Given the description of an element on the screen output the (x, y) to click on. 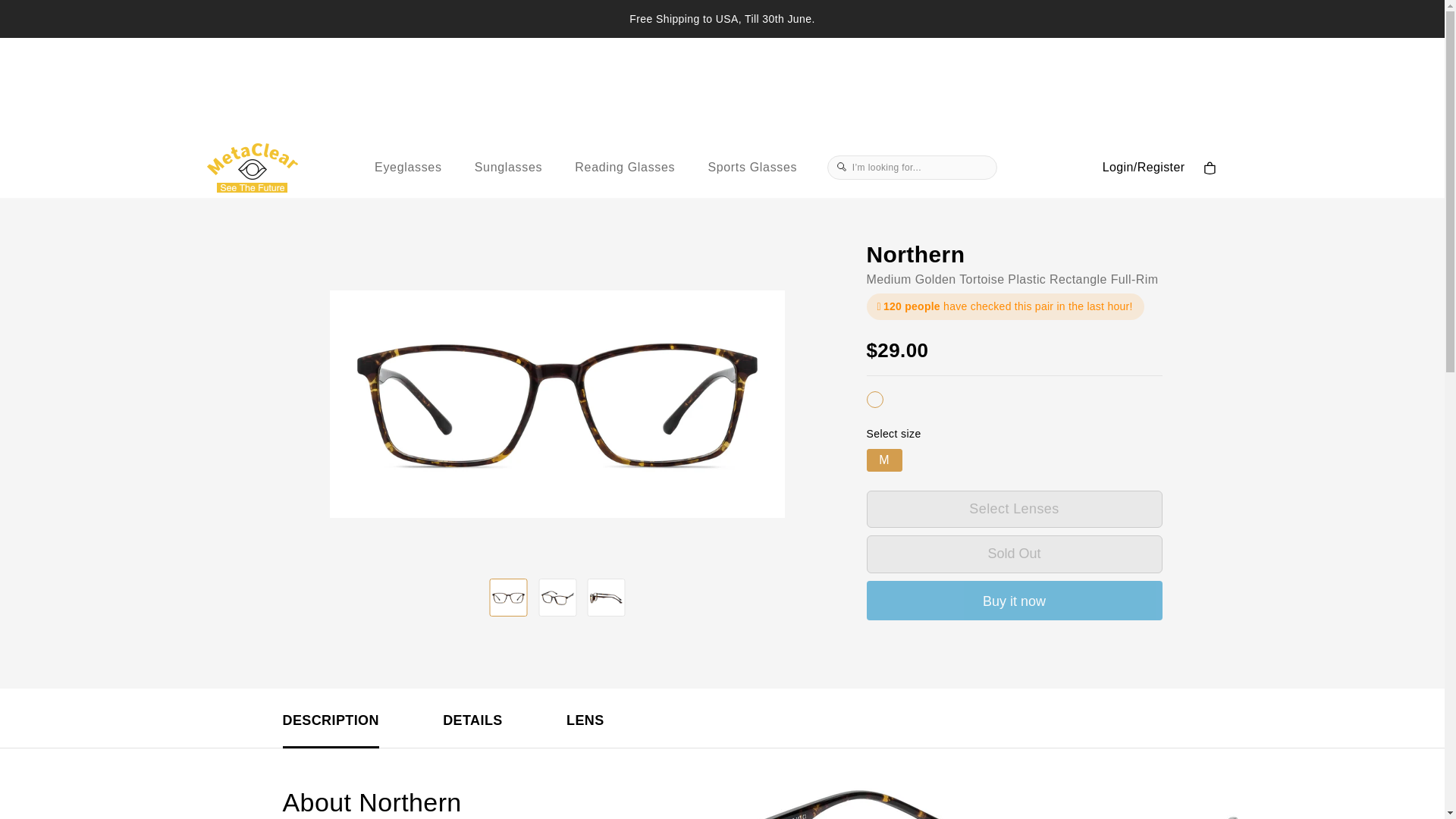
Sports Glasses (751, 167)
Buy it now (1013, 599)
Full-Rim (1134, 278)
Rectangle (1077, 278)
Back to the frontpage (296, 179)
M (883, 459)
golden tortoise (873, 399)
Select Lenses (1013, 508)
Submit the search query. (842, 166)
Golden Tortoise (959, 278)
Home (296, 179)
Medium (888, 278)
Sold Out (1013, 553)
Plastic (1026, 278)
Reading Glasses (625, 167)
